Given the description of an element on the screen output the (x, y) to click on. 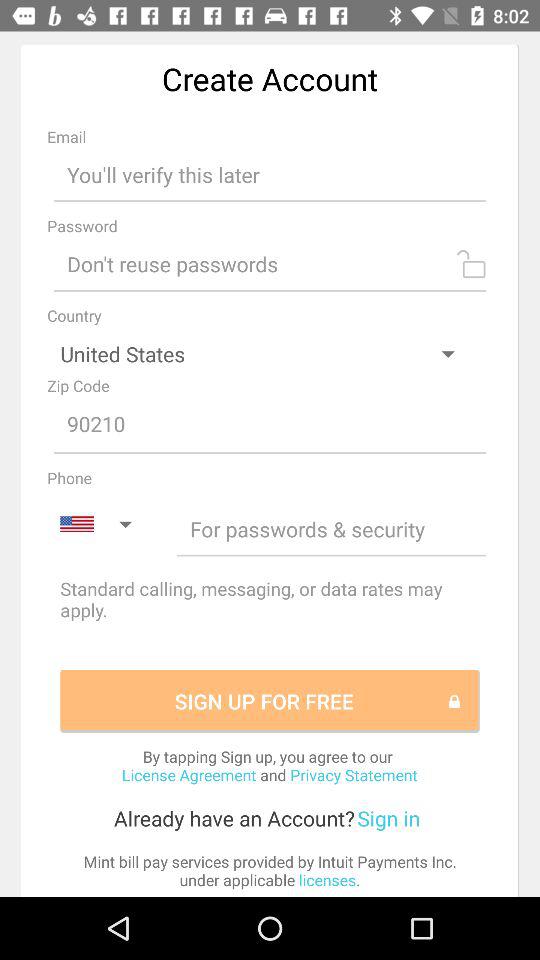
turn off icon below the sign up for icon (269, 765)
